Given the description of an element on the screen output the (x, y) to click on. 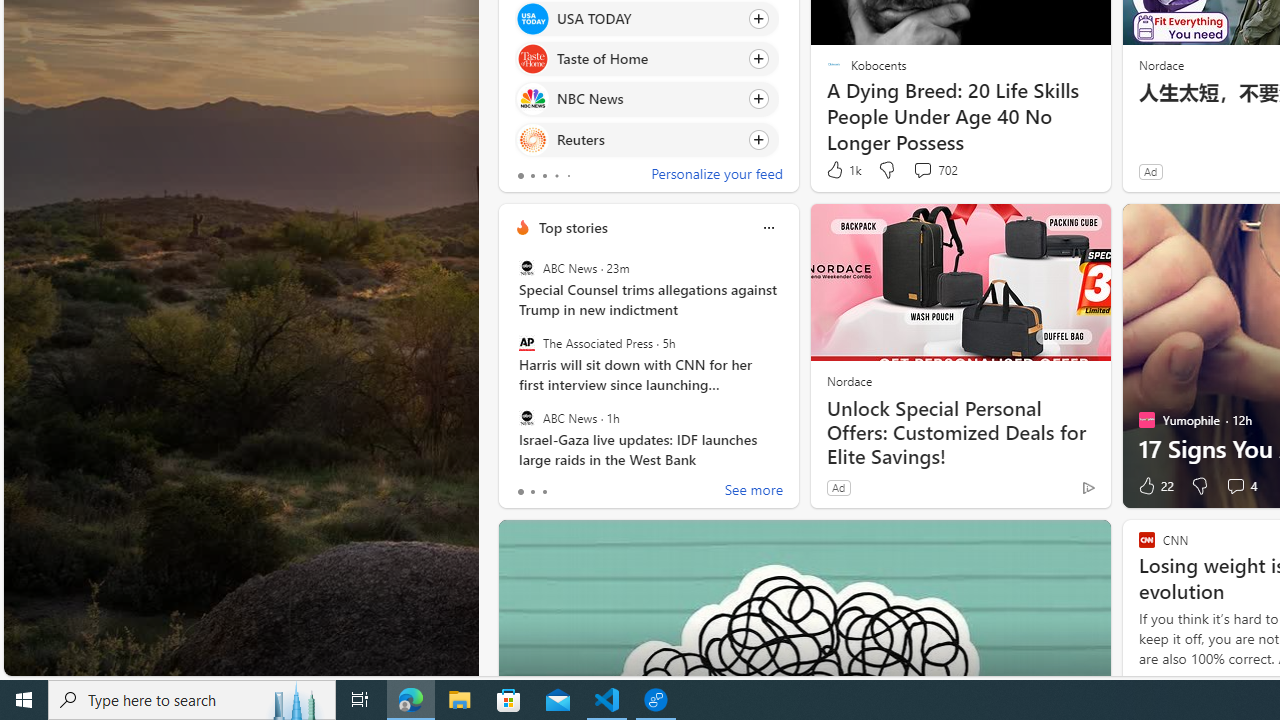
USA TODAY (532, 18)
1k Like (842, 170)
View comments 4 Comment (1234, 485)
